Given the description of an element on the screen output the (x, y) to click on. 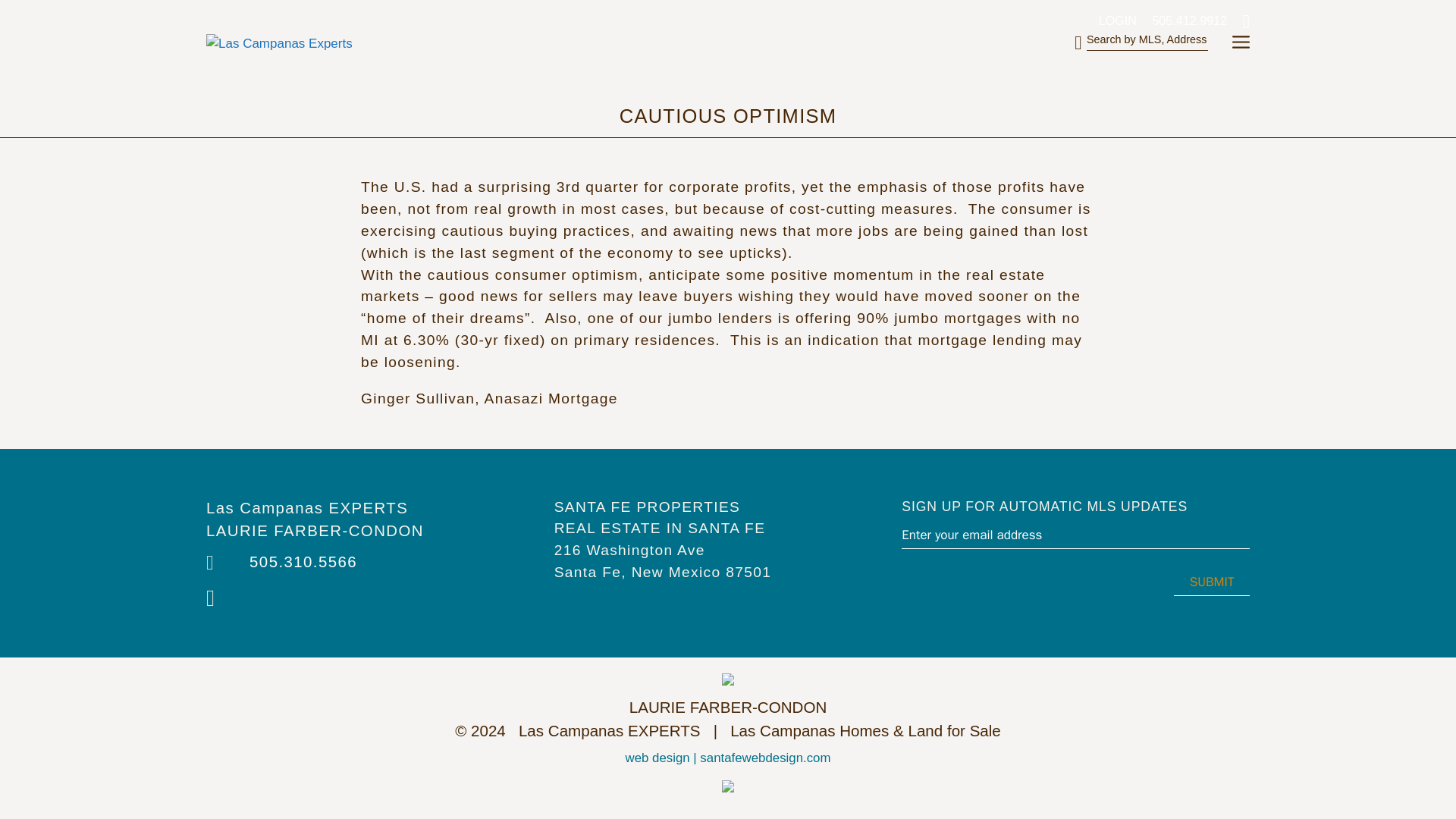
Menu (1240, 43)
submit (1211, 582)
LOGIN (1111, 18)
505.310.5566 (302, 561)
505.412.9912 (1183, 18)
submit (1211, 582)
